Given the description of an element on the screen output the (x, y) to click on. 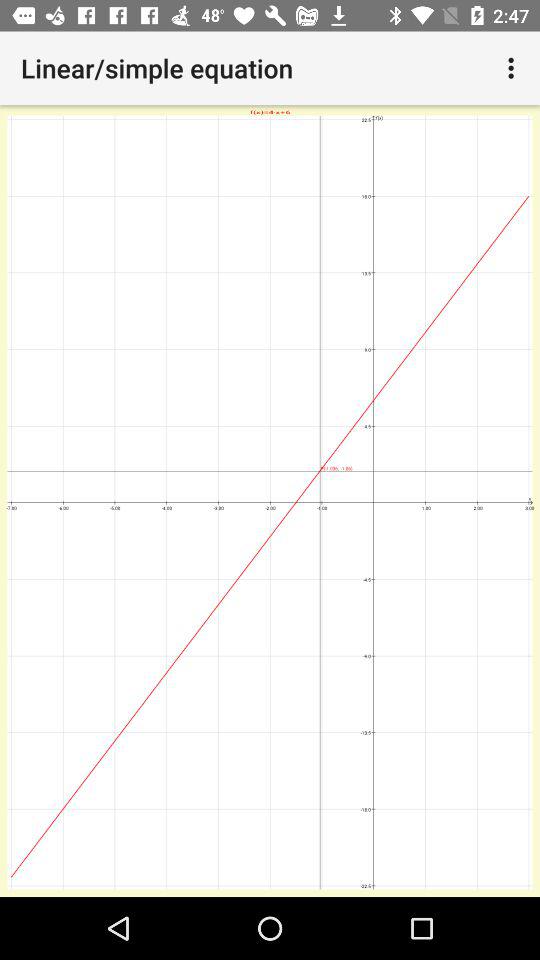
select the icon next to linear/simple equation icon (513, 67)
